Given the description of an element on the screen output the (x, y) to click on. 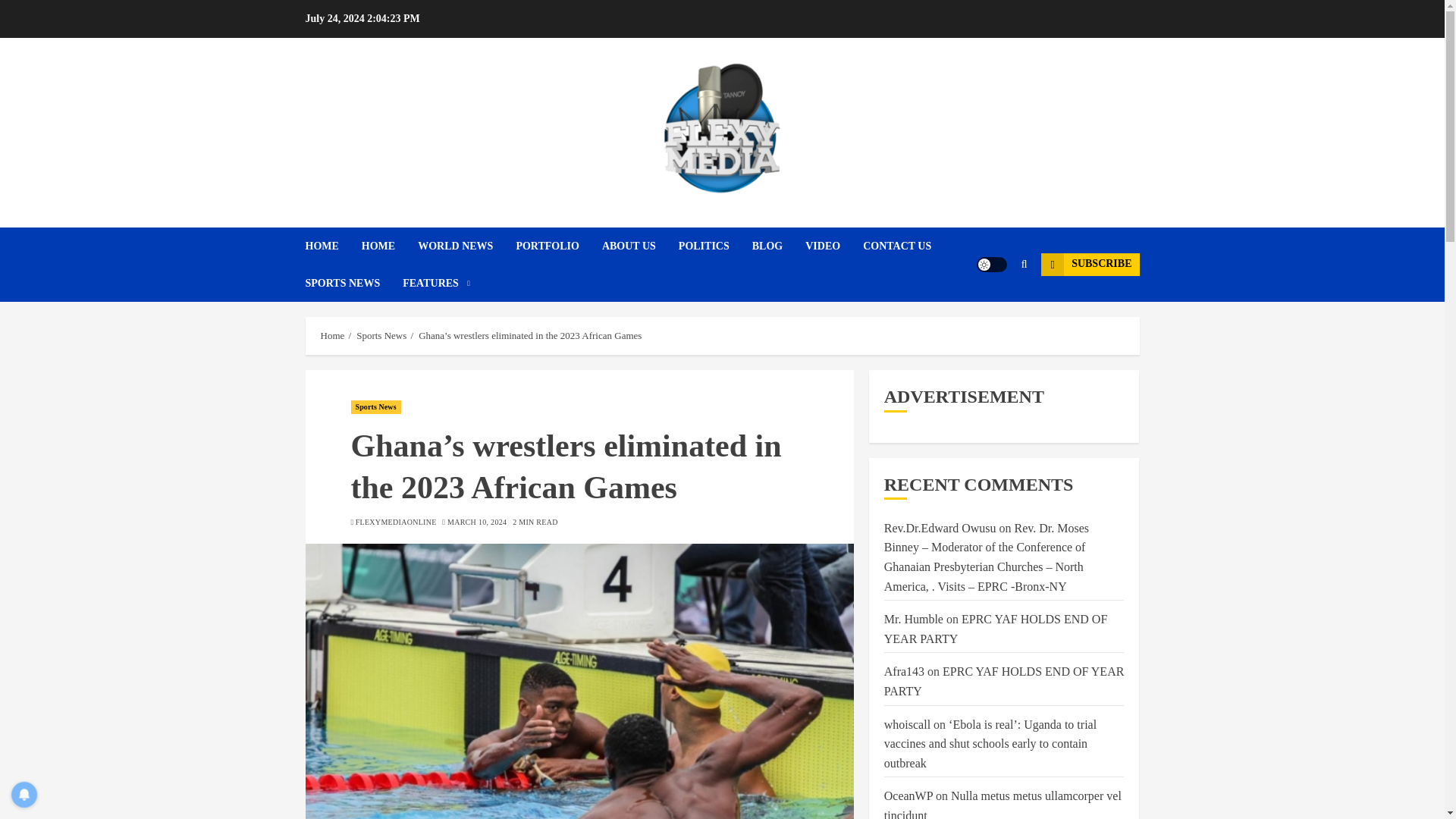
CONTACT US (908, 245)
ABOUT US (640, 245)
SPORTS NEWS (353, 283)
PORTFOLIO (558, 245)
HOME (332, 245)
POLITICS (715, 245)
BLOG (778, 245)
FEATURES (436, 283)
Sports News (375, 407)
Sports News (381, 336)
HOME (389, 245)
SUBSCRIBE (1089, 264)
FLEXYMEDIAONLINE (395, 521)
Home (331, 336)
VIDEO (834, 245)
